Given the description of an element on the screen output the (x, y) to click on. 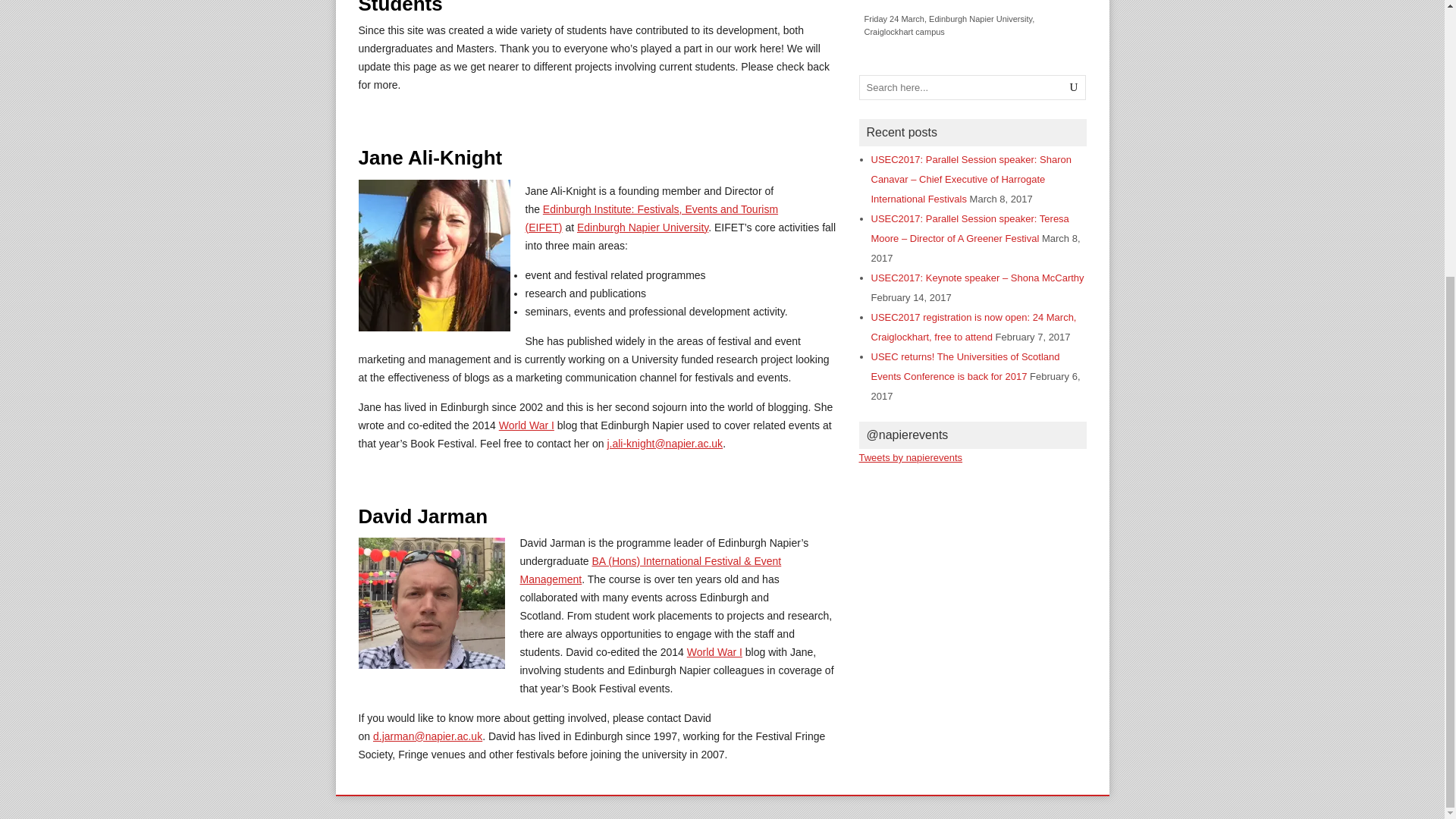
Email Jane (664, 443)
Edinburgh Napier University (641, 227)
U (1073, 87)
World War I (526, 425)
Email David Jarman (426, 736)
U (1073, 87)
EIEFT (650, 218)
Edinburgh Napier University (641, 227)
U (1073, 87)
World War I (714, 652)
Tweets by napierevents (910, 457)
